Given the description of an element on the screen output the (x, y) to click on. 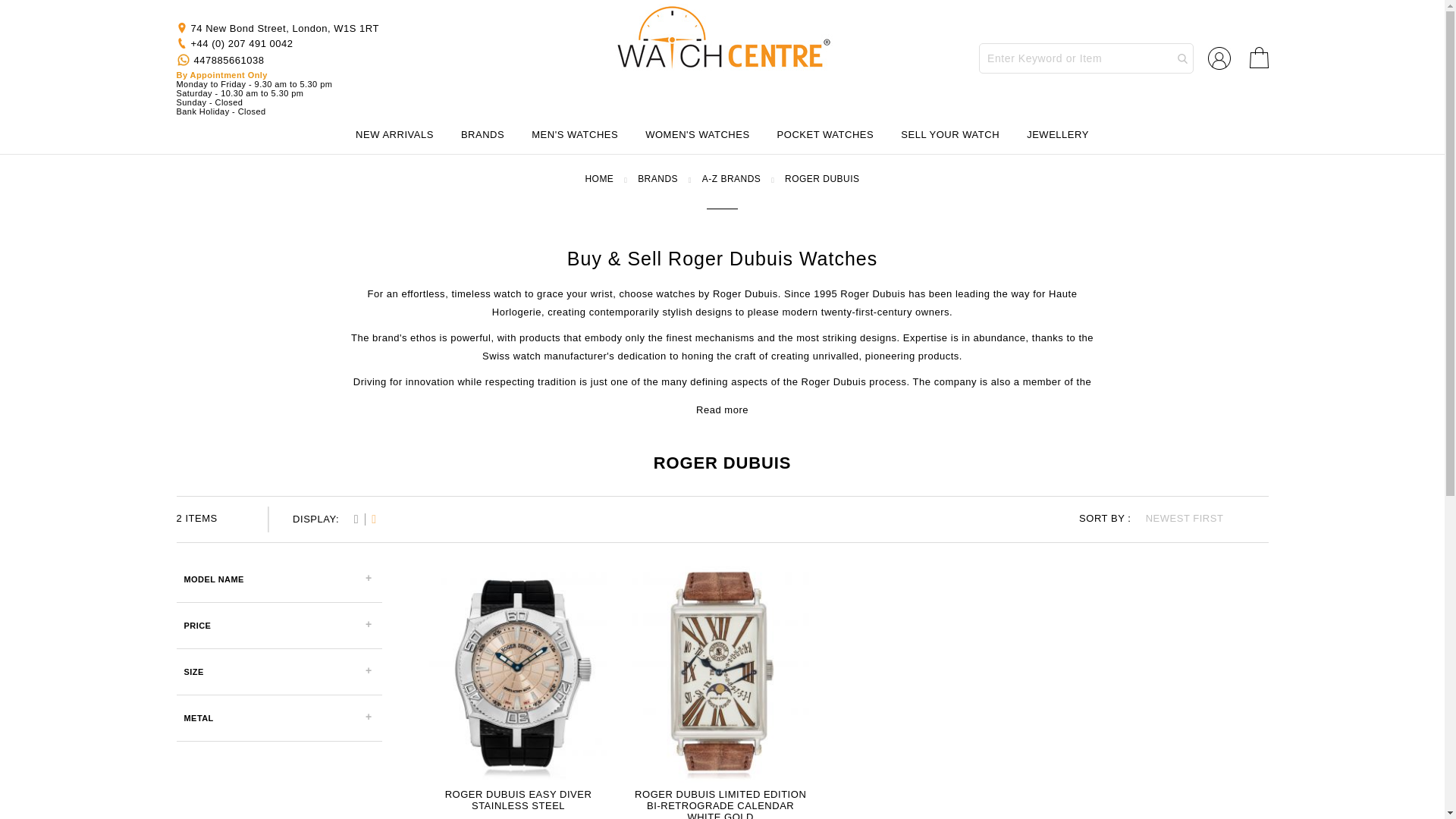
Watch Centre (721, 39)
74 New Bond Street, London, W1S 1RT (284, 28)
Brands (482, 134)
BRANDS (482, 134)
Watch Centre (721, 39)
NEW ARRIVALS (394, 134)
447885661038 (219, 59)
New Arrivals (394, 134)
